Given the description of an element on the screen output the (x, y) to click on. 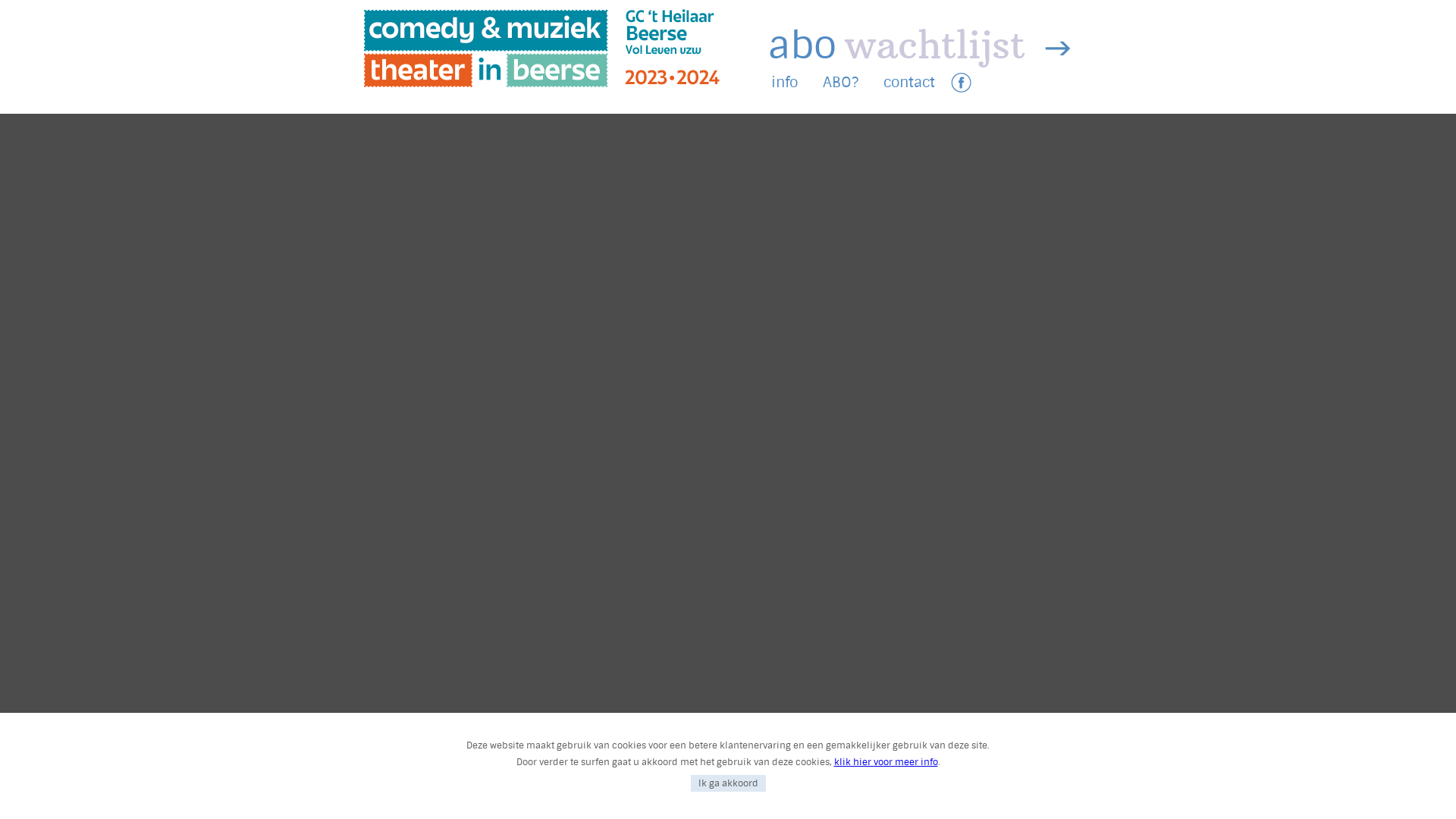
info Element type: text (784, 81)
ABO? Element type: text (840, 81)
klik hier voor meer info Element type: text (886, 762)
contact Element type: text (909, 81)
